Given the description of an element on the screen output the (x, y) to click on. 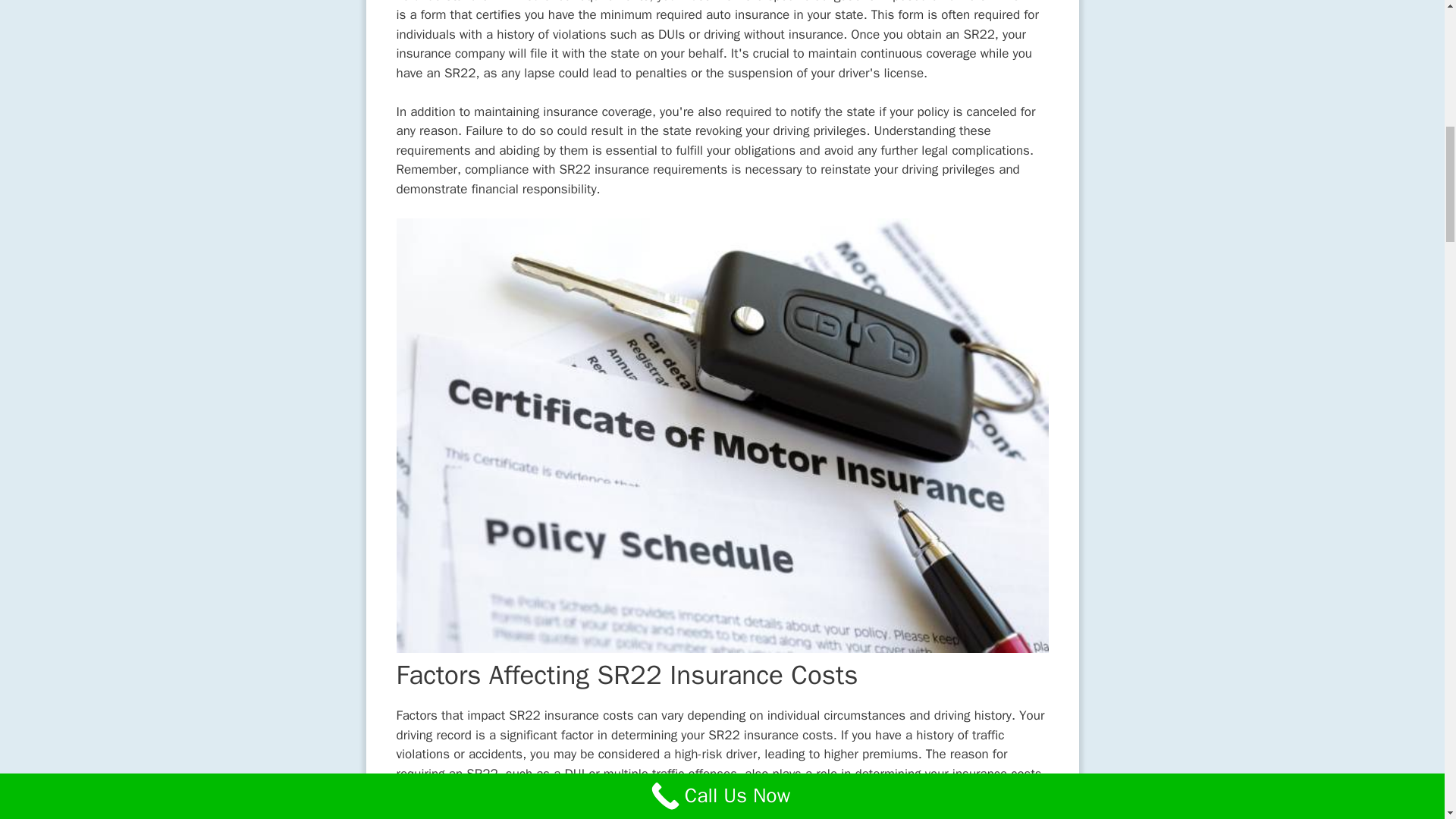
Scroll back to top (1406, 720)
